Given the description of an element on the screen output the (x, y) to click on. 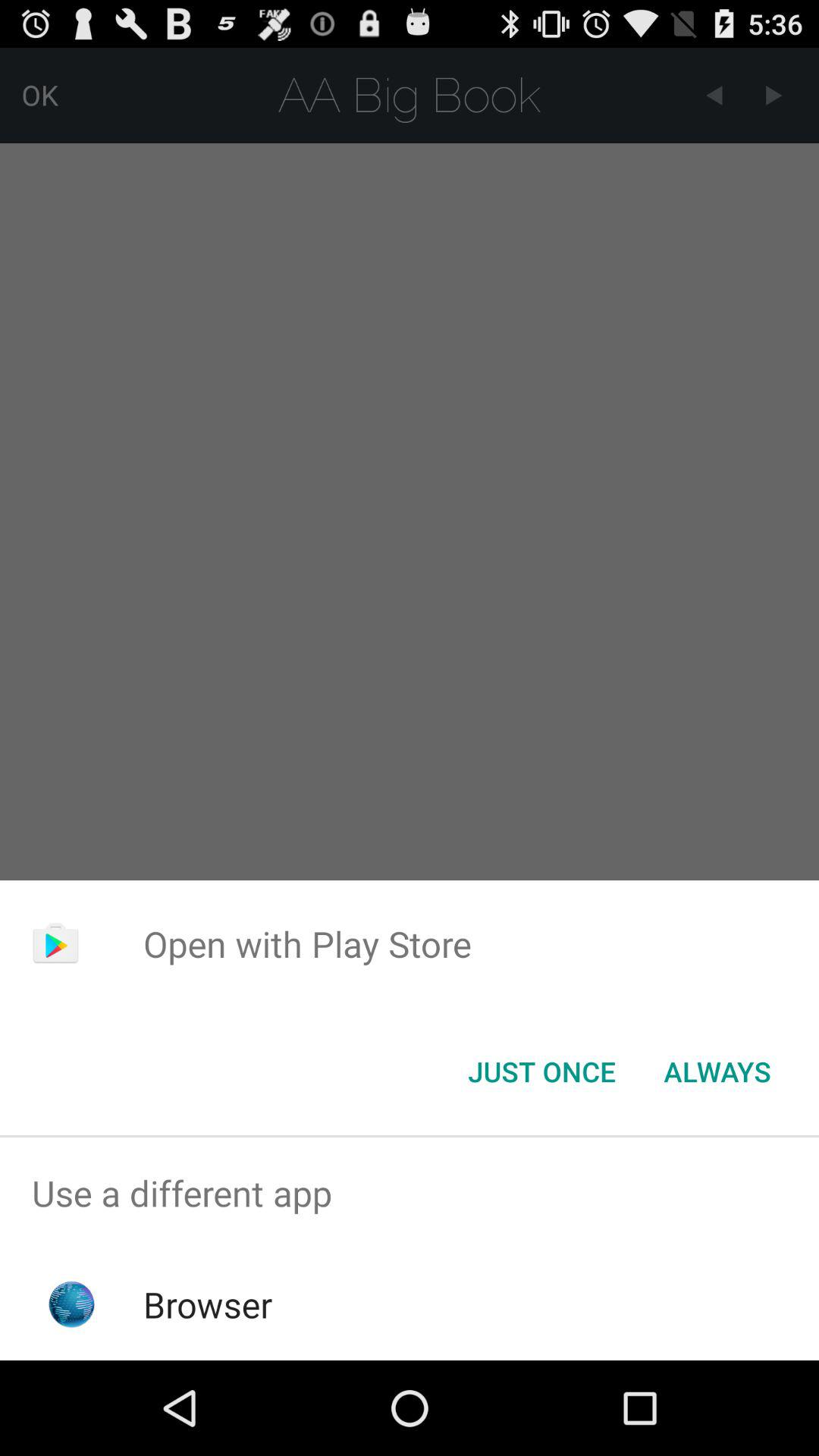
open button next to the just once (717, 1071)
